Given the description of an element on the screen output the (x, y) to click on. 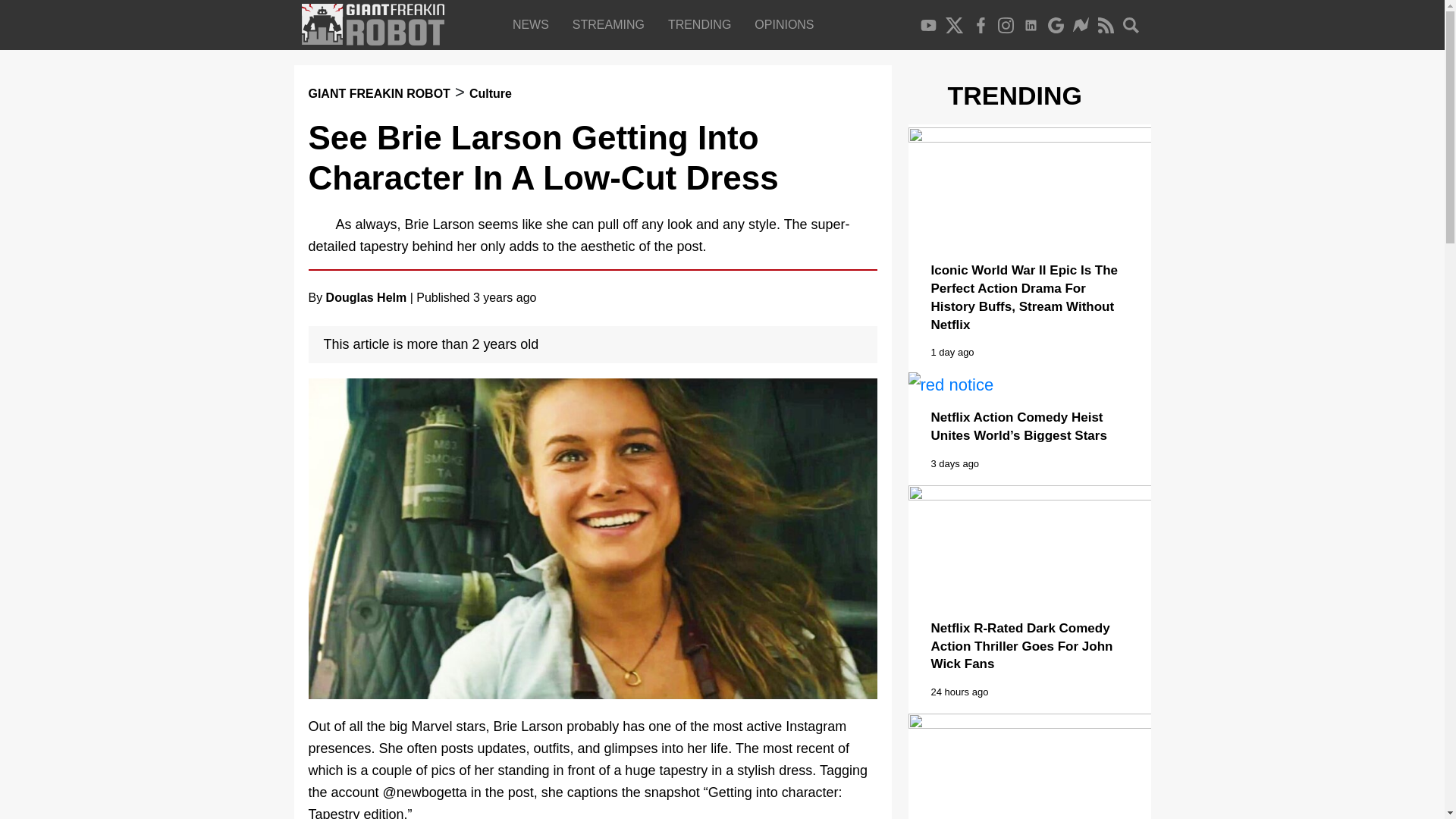
GIANT FREAKIN ROBOT (378, 92)
TRENDING (702, 24)
Entertainment News (533, 24)
Streaming (611, 24)
Trending (702, 24)
NEWS (533, 24)
STREAMING (611, 24)
OPINIONS (786, 24)
Culture (490, 92)
See Brie Larson Getting Into Character In A Low-Cut Dress (542, 157)
